Given the description of an element on the screen output the (x, y) to click on. 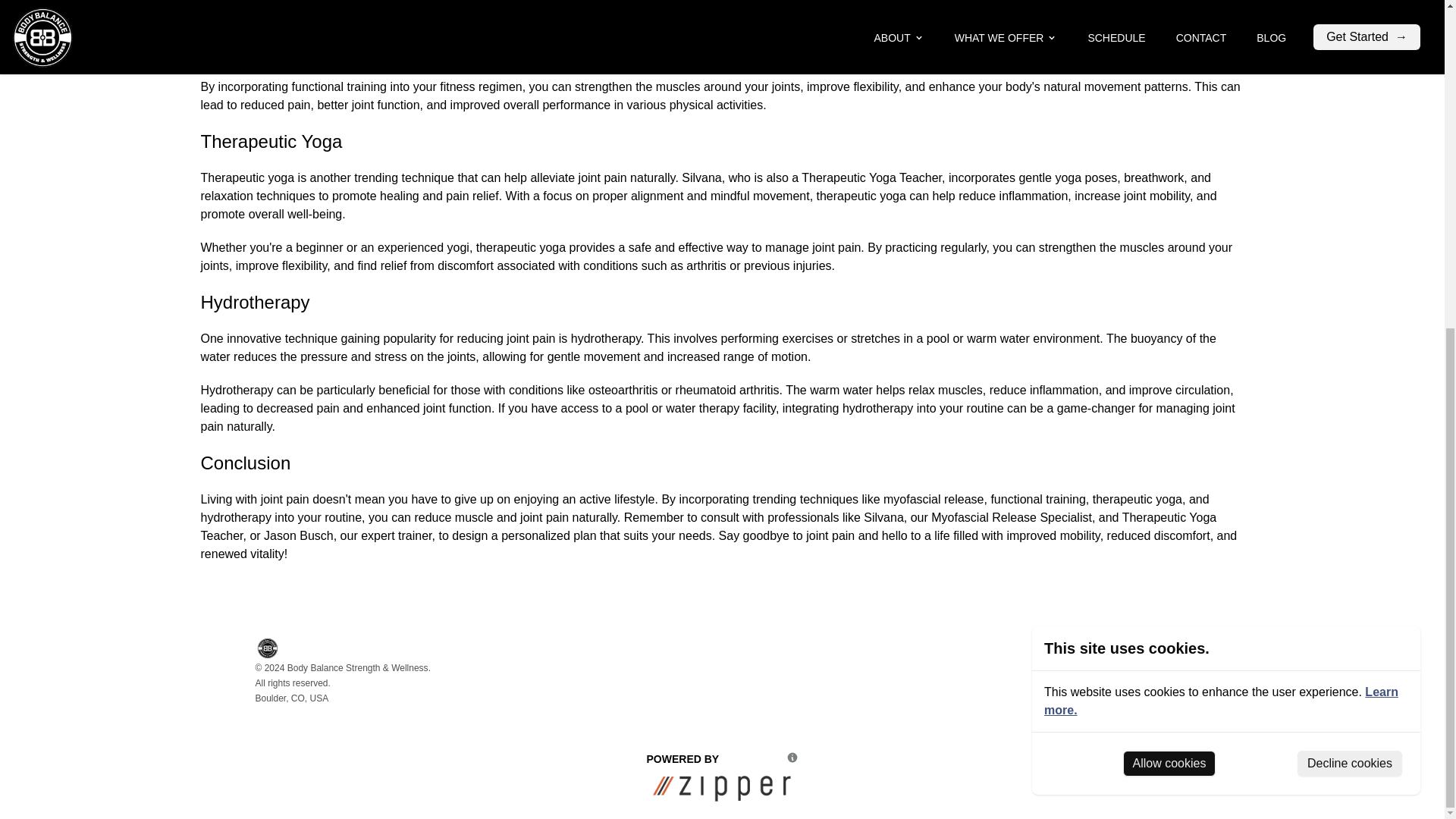
Learn more. (1220, 160)
Allow cookies (1168, 222)
Decline cookies (1349, 222)
